Given the description of an element on the screen output the (x, y) to click on. 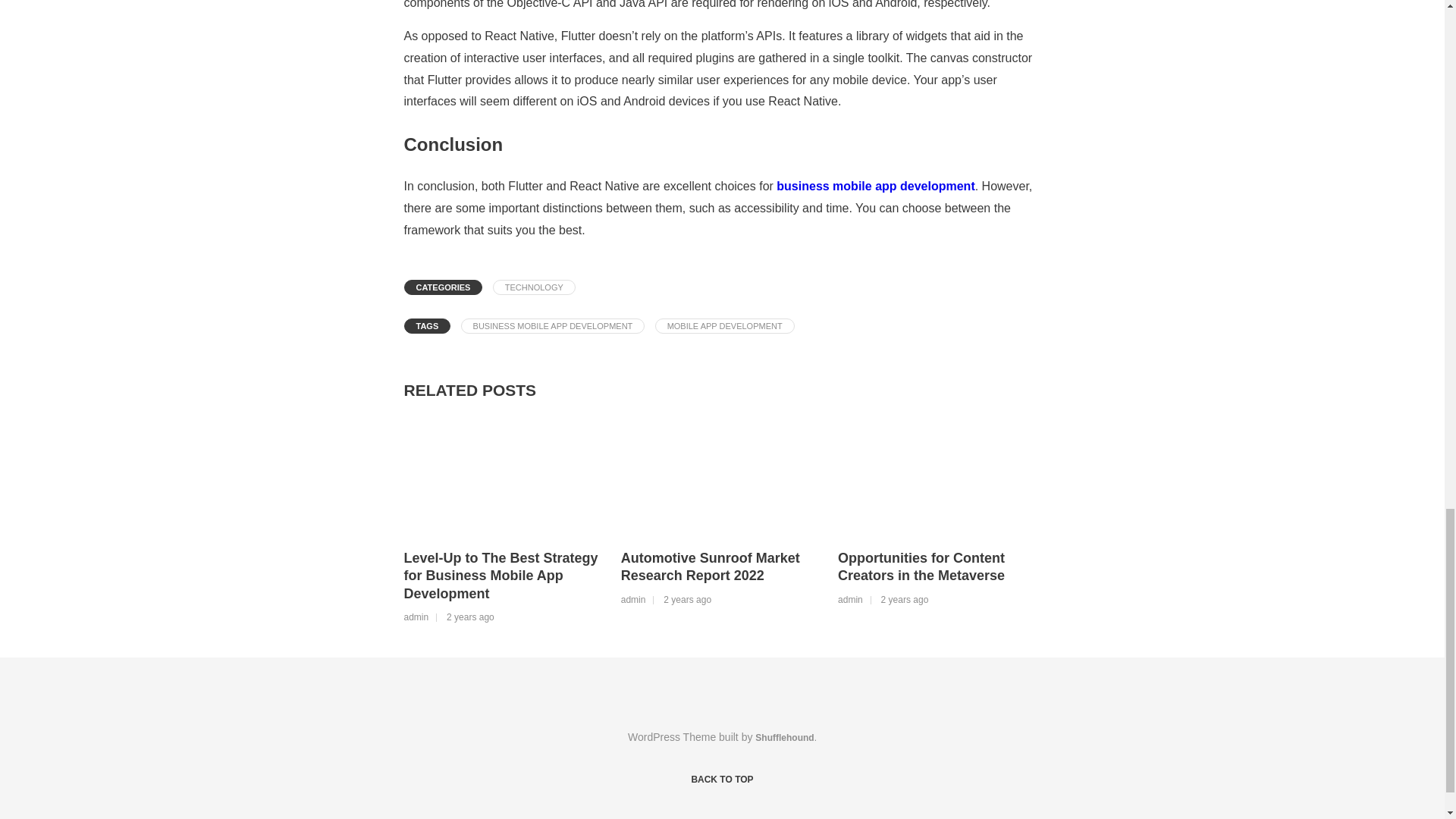
MOBILE APP DEVELOPMENT (724, 325)
BUSINESS MOBILE APP DEVELOPMENT (553, 325)
TECHNOLOGY (534, 287)
business mobile app development (875, 185)
BACK TO TOP (720, 779)
Shufflehound. (785, 737)
